Given the description of an element on the screen output the (x, y) to click on. 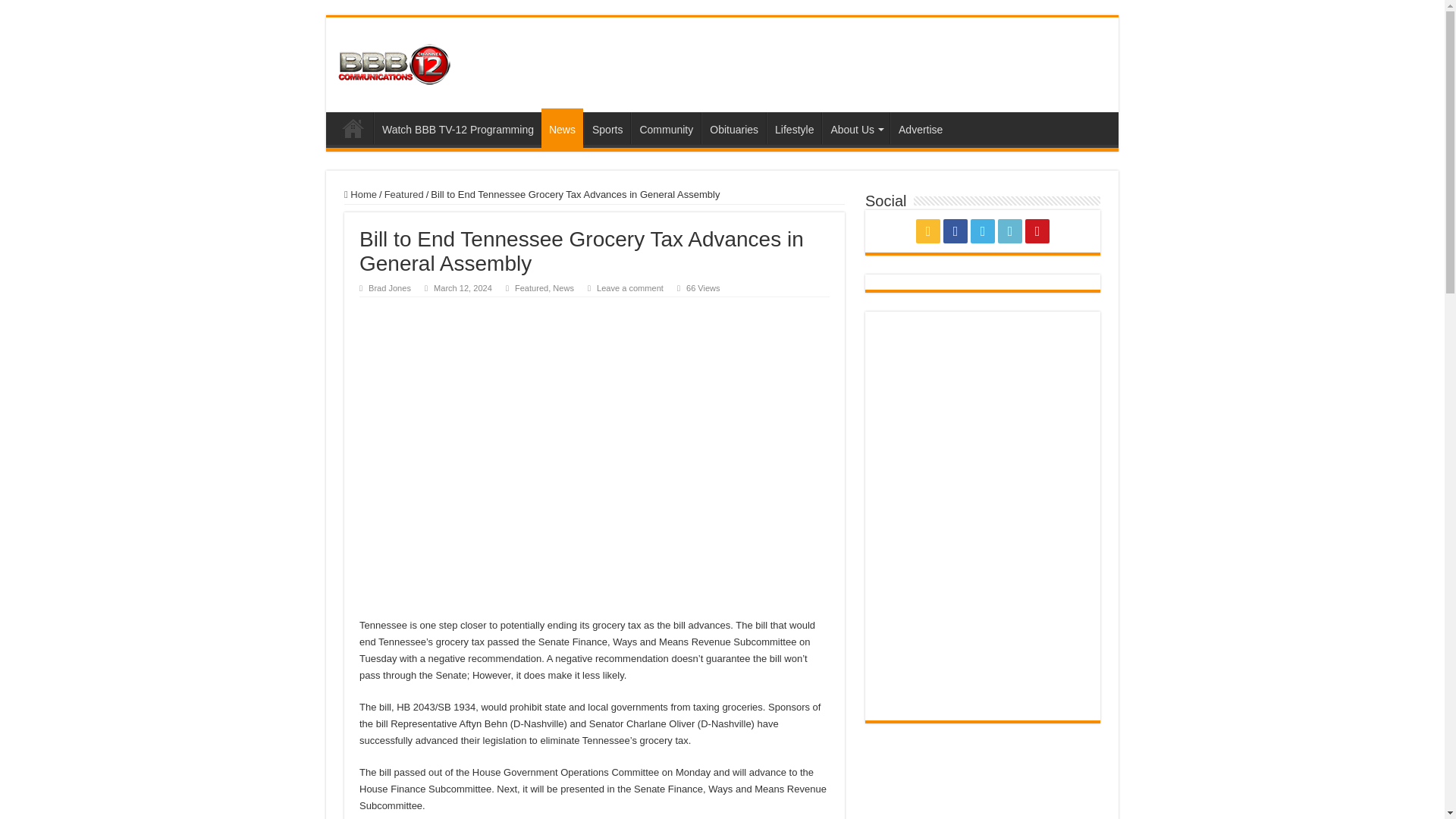
Home (352, 128)
Watch BBB TV-12 Programming (457, 128)
Home (360, 194)
News (563, 287)
Featured (531, 287)
Sports (606, 128)
News (562, 128)
About Us (855, 128)
BBBTV12 (394, 62)
Leave a comment (629, 287)
